Given the description of an element on the screen output the (x, y) to click on. 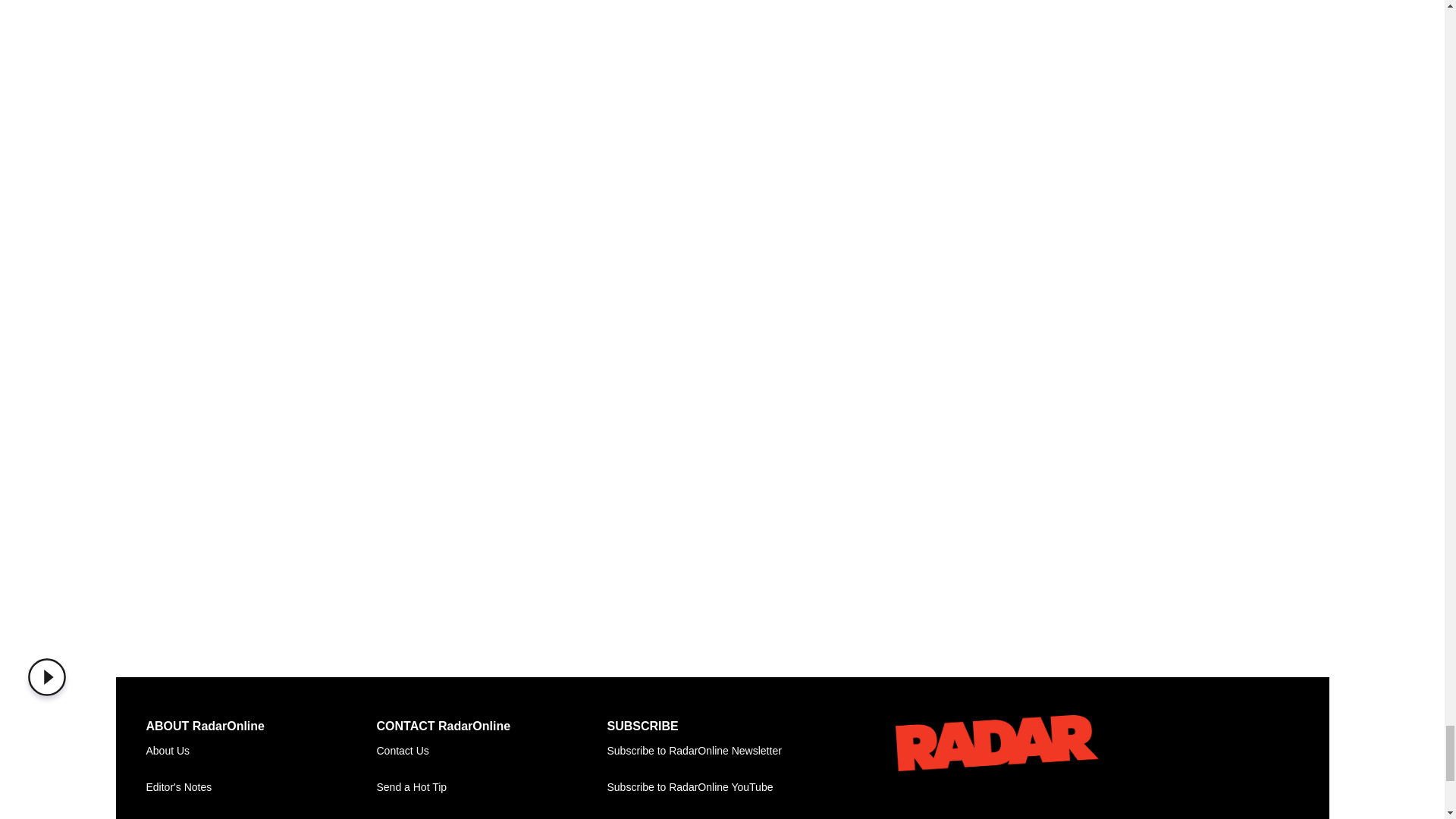
Send a Hot Tip (491, 787)
Editor's Notes (260, 787)
Privacy Policy (260, 812)
Contact Us (491, 751)
About Us (260, 751)
About Us (260, 751)
Editor's Notes (260, 787)
